Given the description of an element on the screen output the (x, y) to click on. 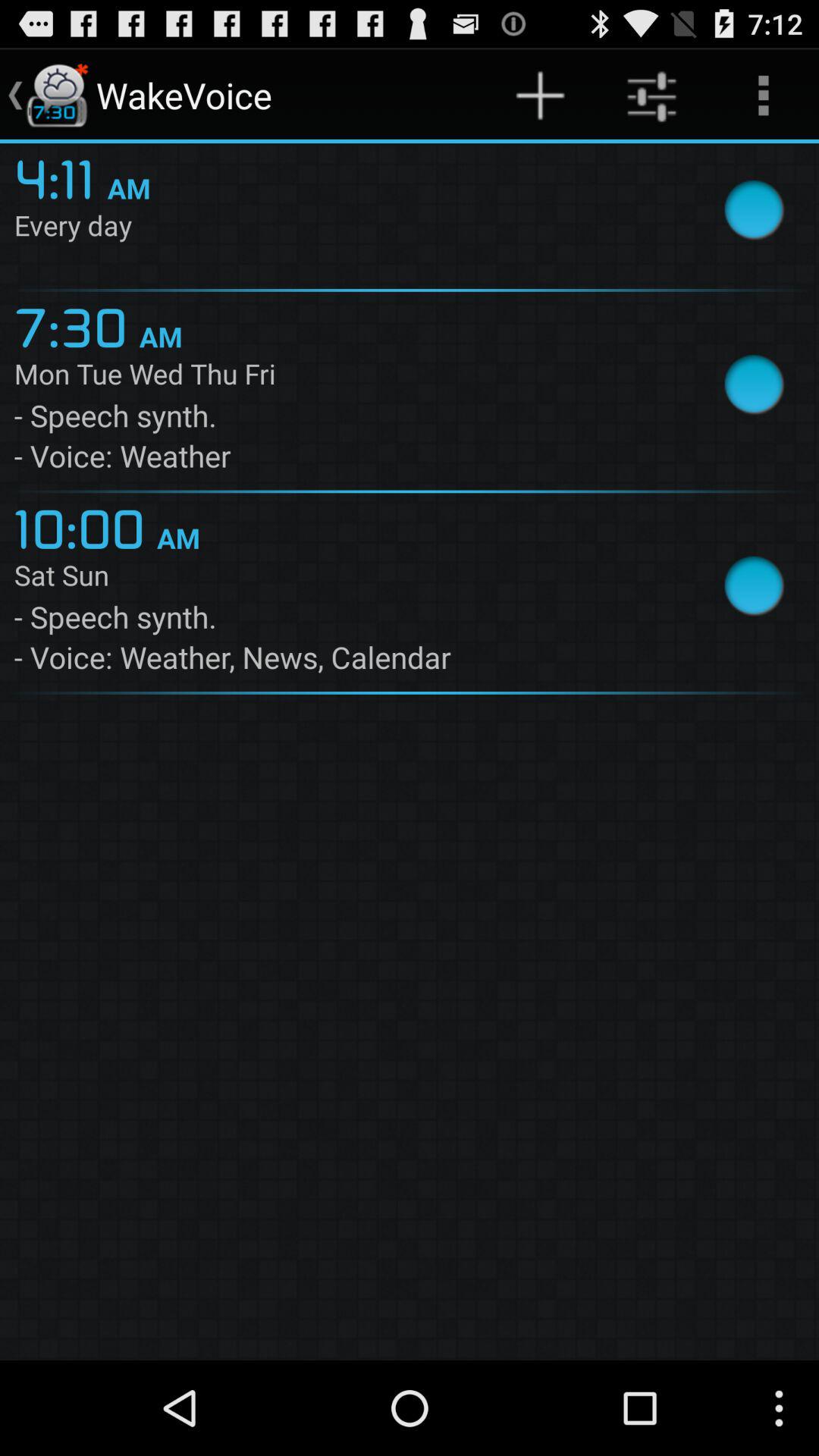
turn off the every day item (343, 228)
